Given the description of an element on the screen output the (x, y) to click on. 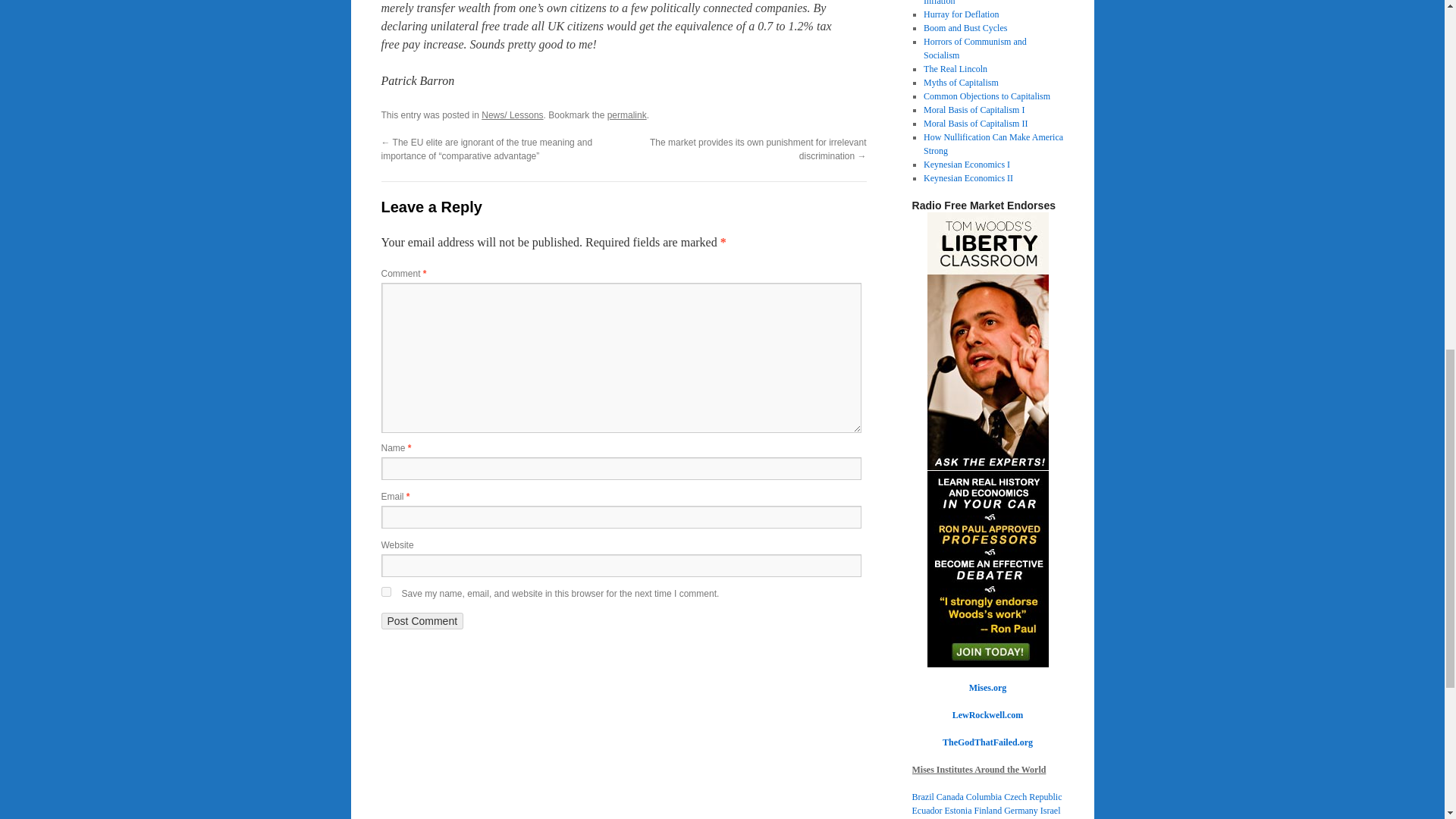
Post Comment (421, 620)
Horrors of Communism and Socialism (974, 48)
permalink (626, 114)
yes (385, 592)
The Real Lincoln (955, 68)
Myths of Capitalism (960, 81)
Post Comment (421, 620)
Common Objections to Capitalism (986, 95)
Moral Basis of Capitalism II (975, 122)
Moral Basis of Capitalism I (974, 109)
Boom and Bust Cycles (965, 27)
Hurray for Deflation (960, 14)
